Given the description of an element on the screen output the (x, y) to click on. 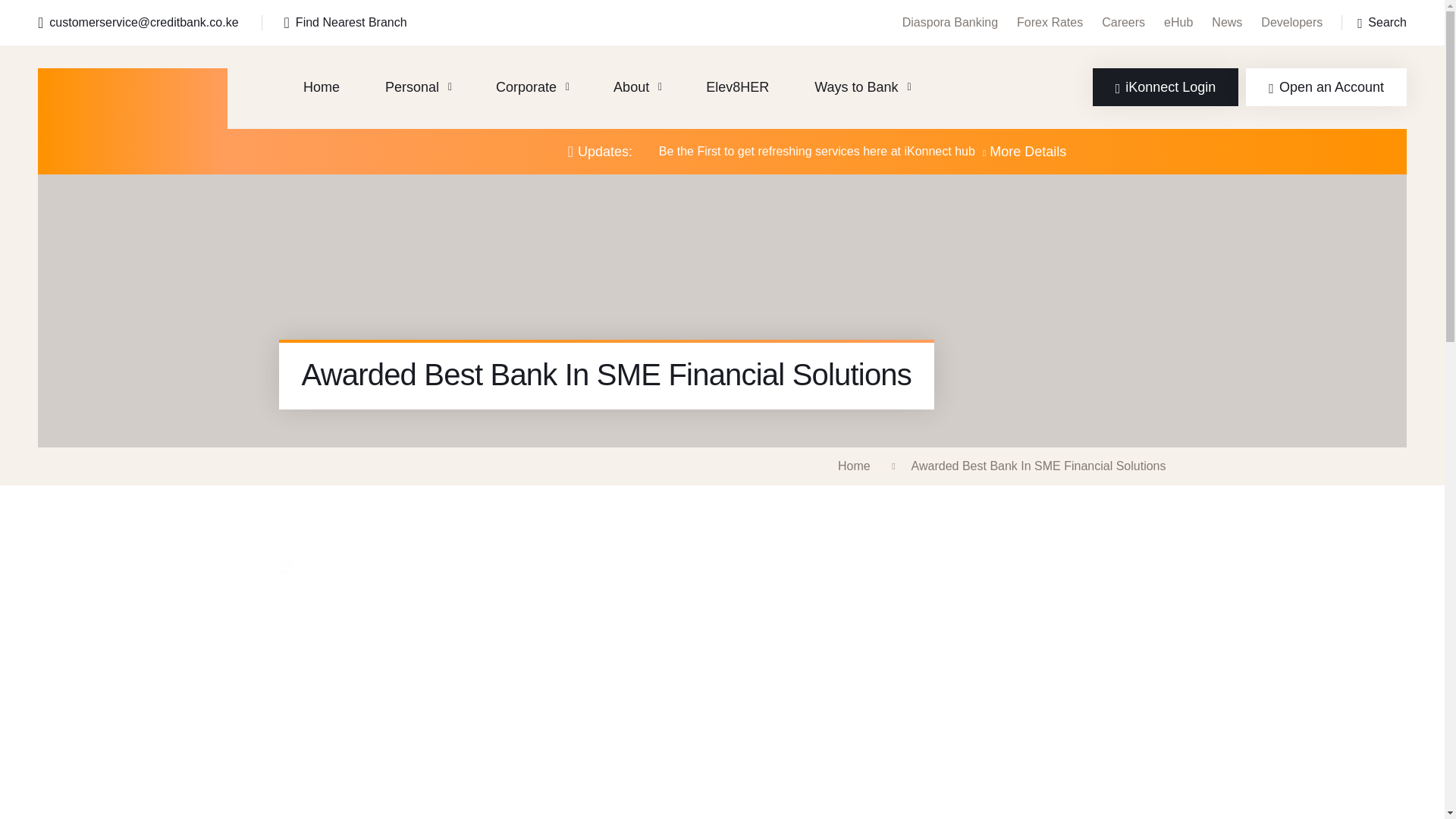
eHub (1177, 21)
Developers (1291, 21)
Forex Rates (1049, 21)
eHub (1177, 21)
Diaspora Banking (949, 21)
Corporate (531, 86)
Credit Bank PLC (132, 121)
Developers (1291, 21)
Personal (417, 86)
Careers (1123, 21)
